Given the description of an element on the screen output the (x, y) to click on. 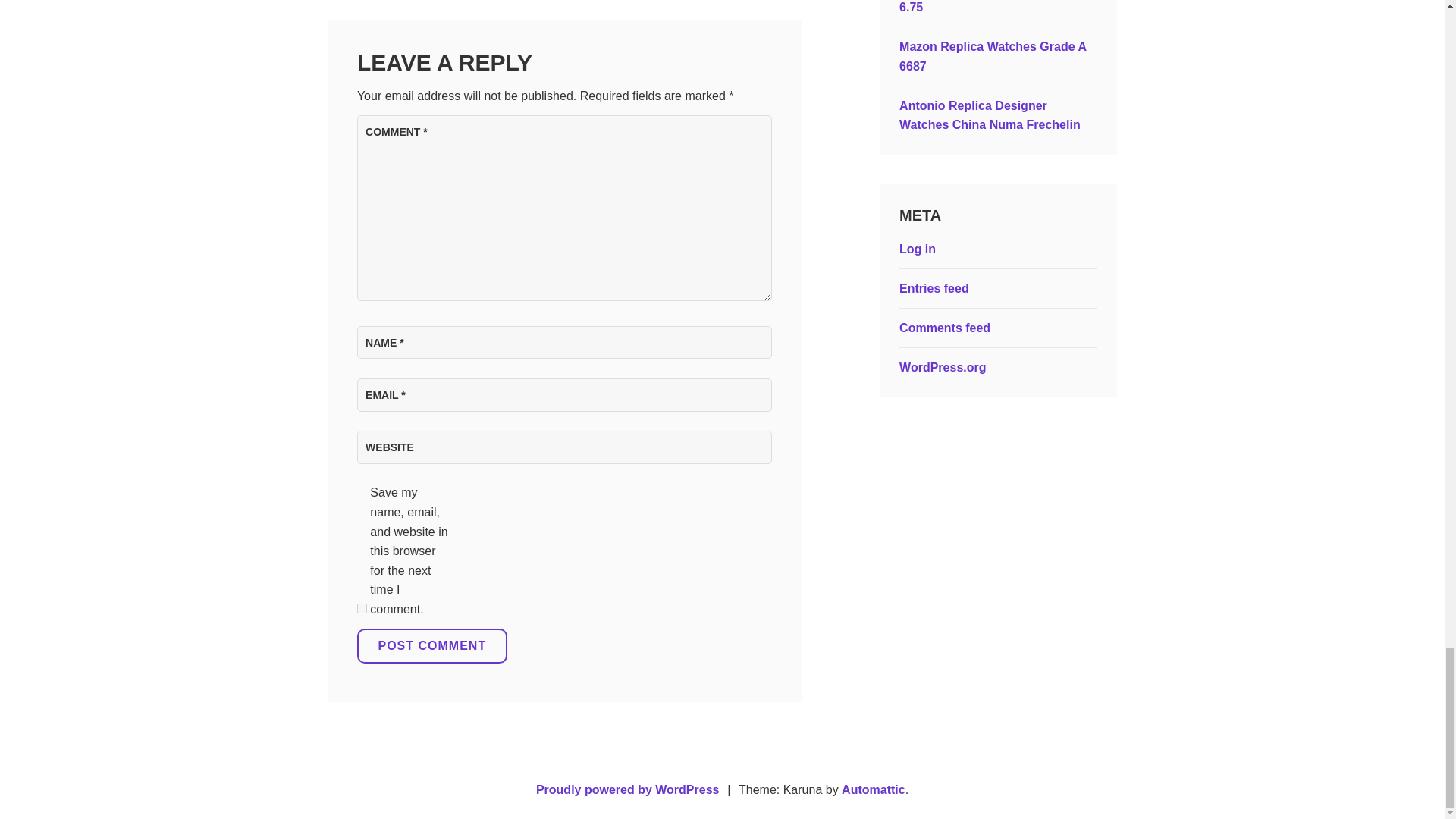
yes (361, 608)
Post Comment (431, 645)
Post Comment (431, 645)
